Given the description of an element on the screen output the (x, y) to click on. 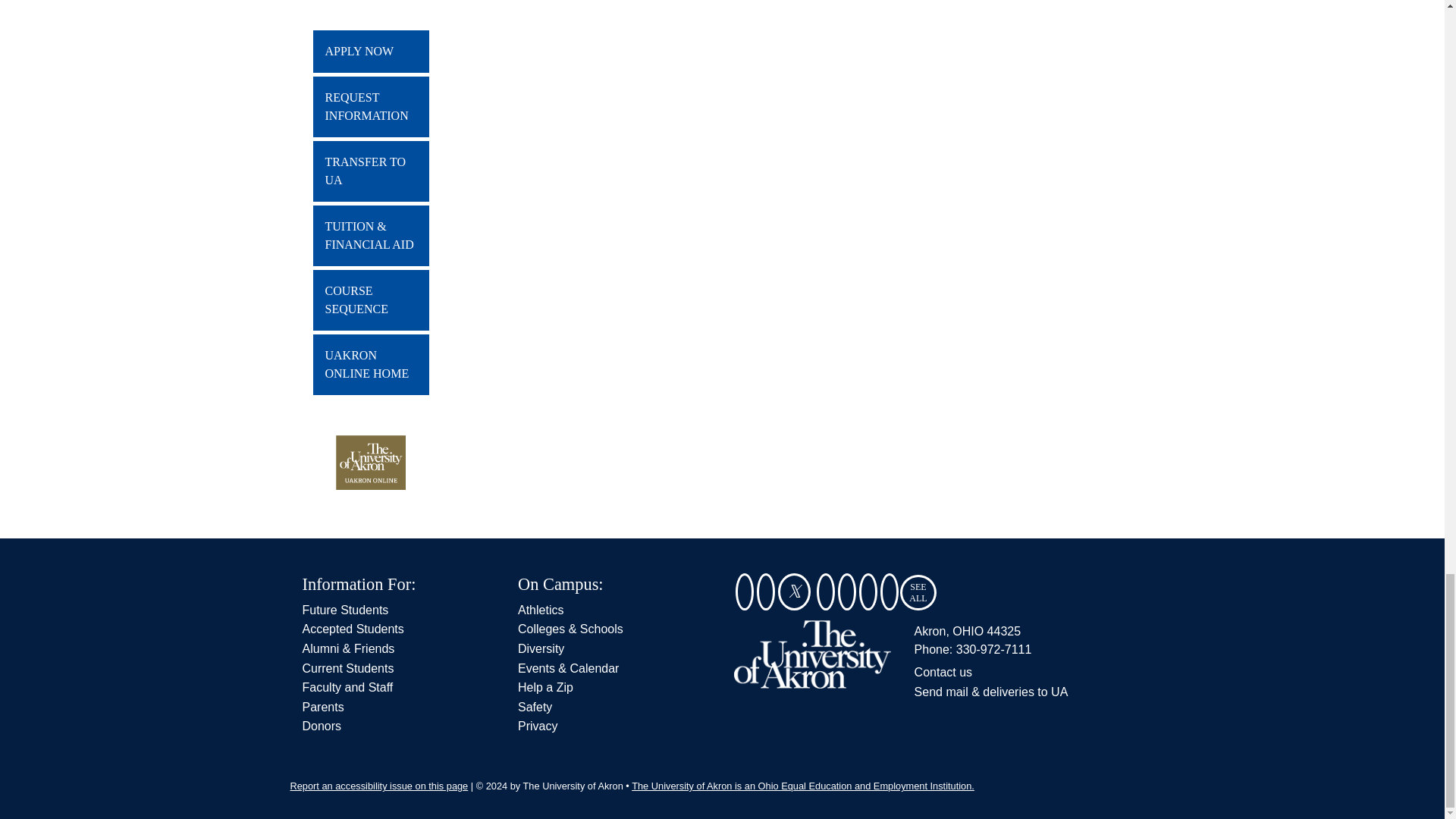
Snapchat (744, 592)
Return to the UAkron Online homepage. (370, 364)
Twitter (794, 592)
Instagram (825, 592)
APPLY NOW (370, 51)
Facebook (765, 592)
Return to the UAkron Online homepage. (371, 479)
